Given the description of an element on the screen output the (x, y) to click on. 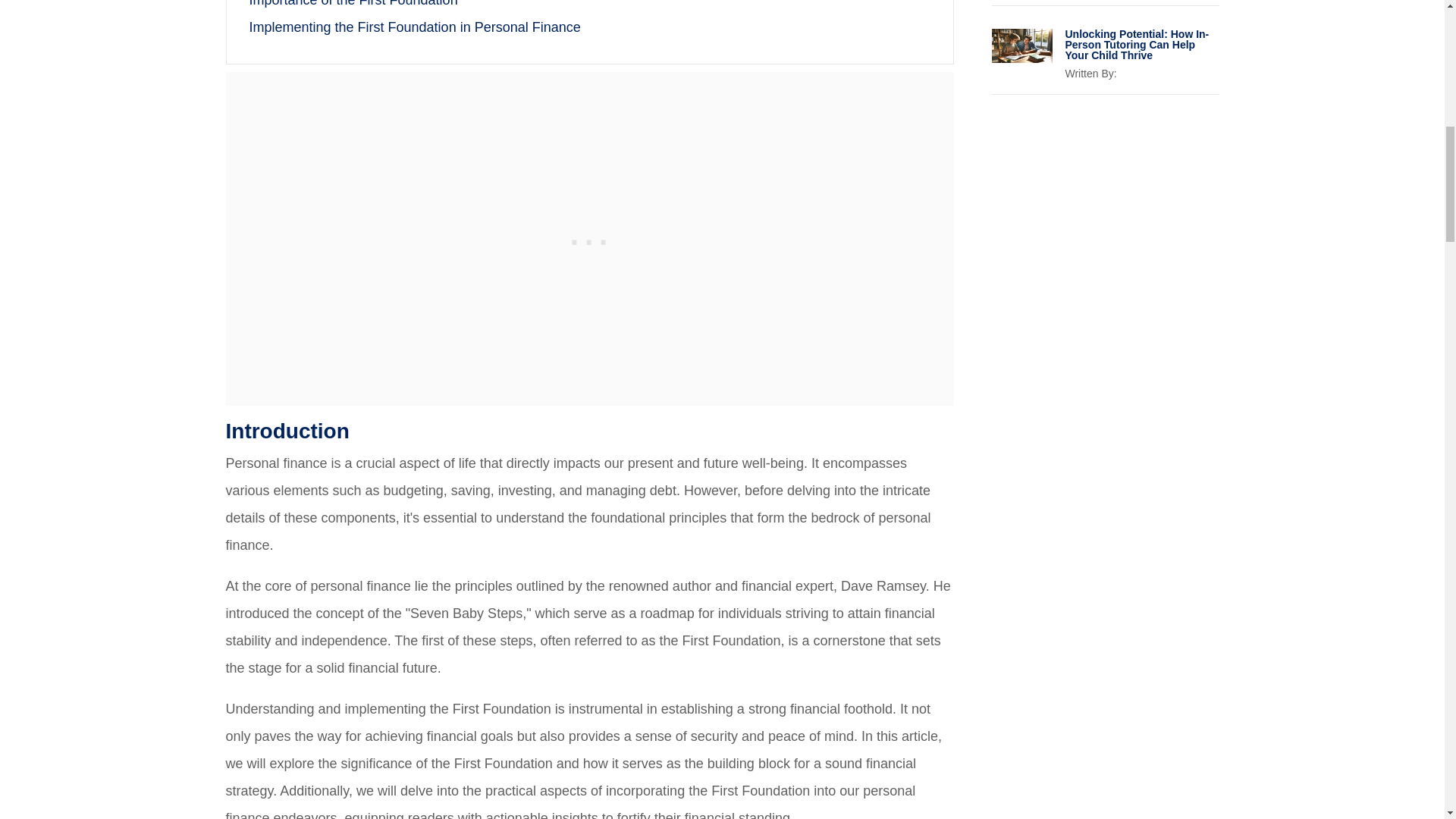
Importance of the First Foundation (352, 3)
Implementing the First Foundation in Personal Finance (413, 27)
